Given the description of an element on the screen output the (x, y) to click on. 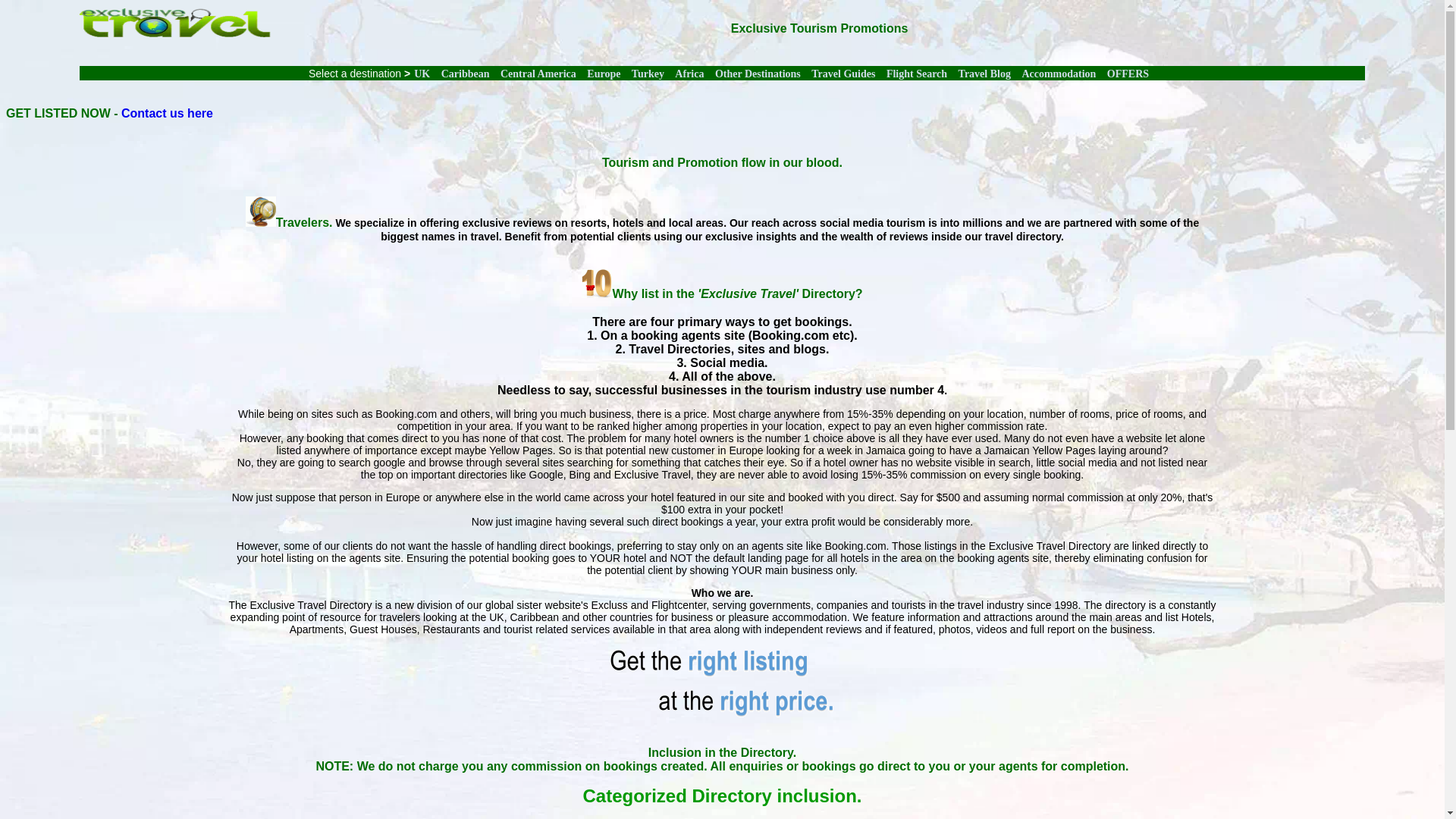
Find the absolutely cheapest flights to anywhere (916, 73)
World Travel Guides (842, 73)
Exploring Turkey guides and Exclusive 5 star holiday resorts (647, 73)
holiday accommodation world wide (1059, 73)
OFFERS (1127, 73)
Luxury holidays with exclusivity (175, 42)
Exclusive guides to world travel destinations (757, 73)
Europe (603, 73)
Top UK Holiday Destinations and Accommodation (421, 73)
